Given the description of an element on the screen output the (x, y) to click on. 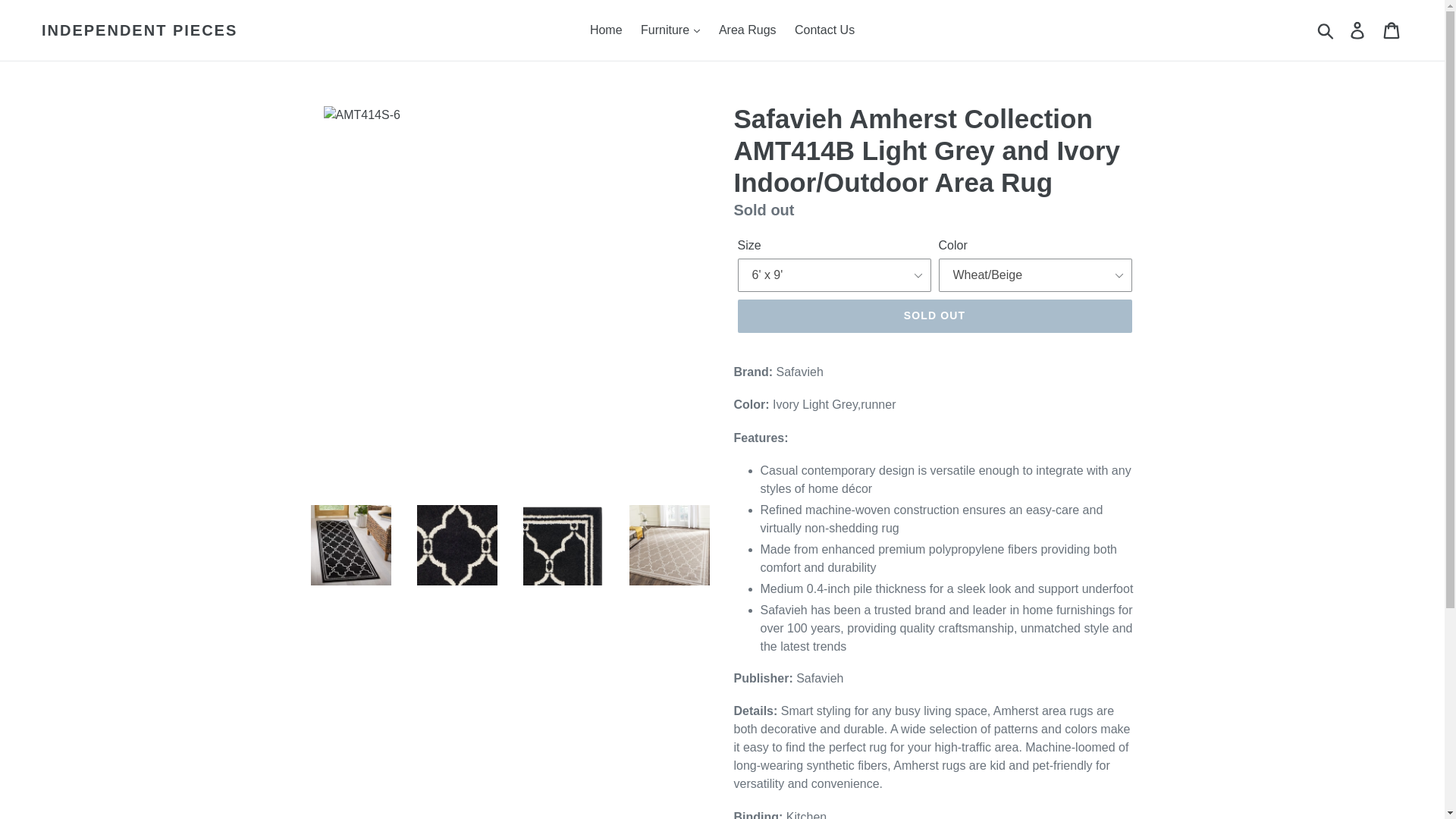
INDEPENDENT PIECES (139, 30)
Contact Us (824, 29)
Home (606, 29)
Cart (1392, 29)
Log in (1357, 29)
Submit (1326, 29)
Area Rugs (747, 29)
SOLD OUT (933, 315)
